Given the description of an element on the screen output the (x, y) to click on. 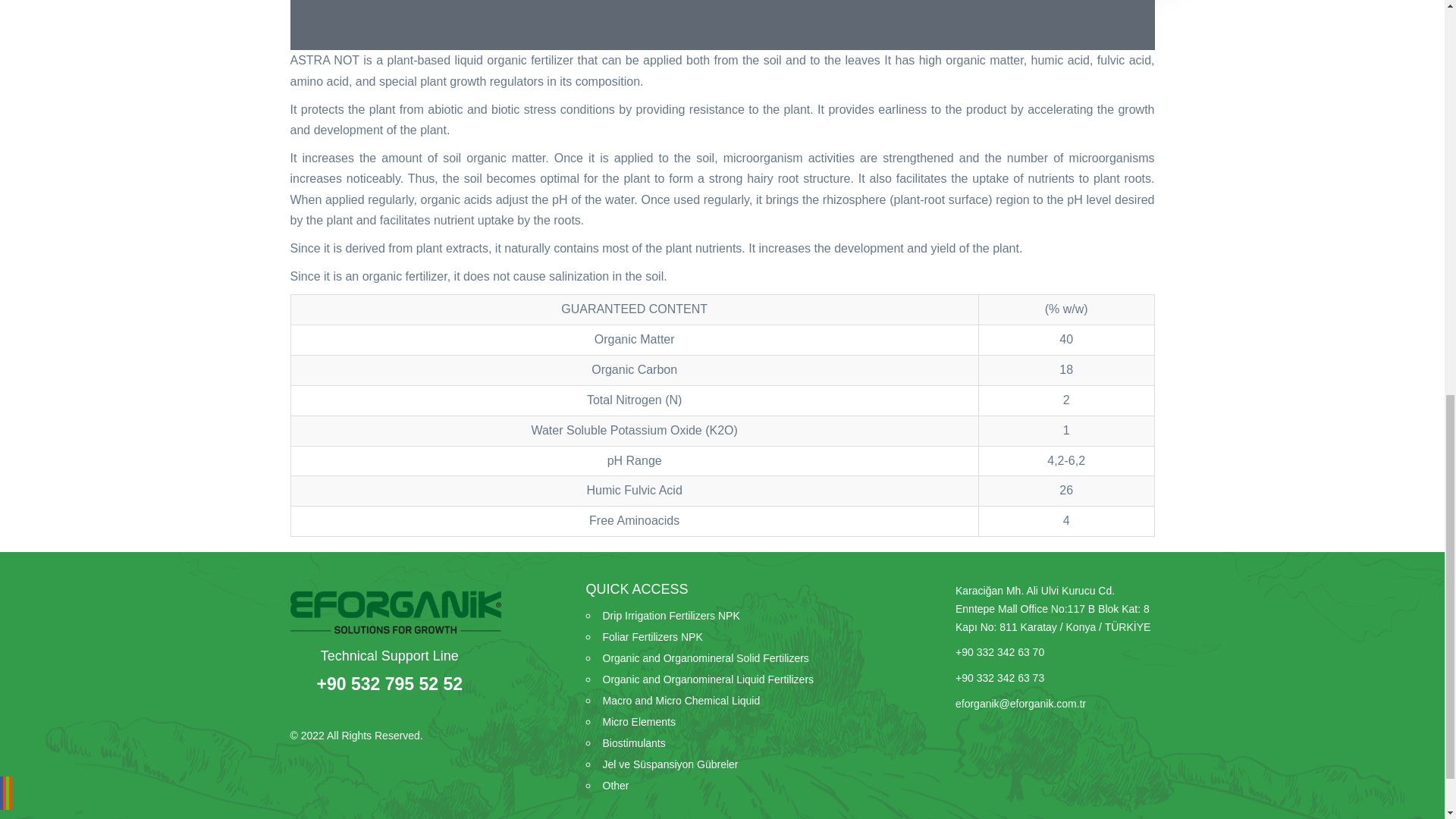
ASTRA NOT (721, 10)
